Given the description of an element on the screen output the (x, y) to click on. 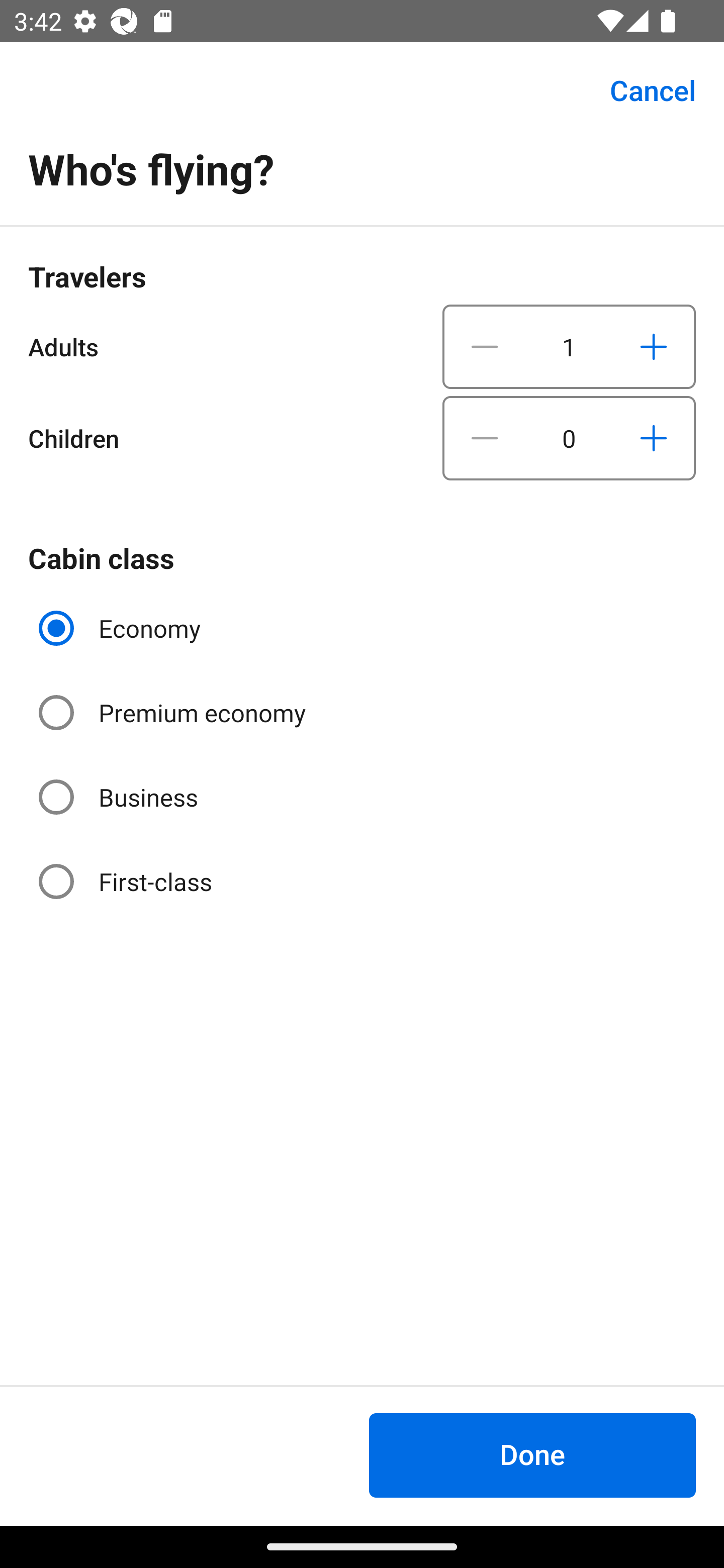
Cancel (641, 90)
Decrease (484, 346)
Increase (653, 346)
Decrease (484, 437)
Increase (653, 437)
Economy (121, 628)
Premium economy (174, 712)
Business (120, 796)
First-class (126, 880)
Done (532, 1454)
